Given the description of an element on the screen output the (x, y) to click on. 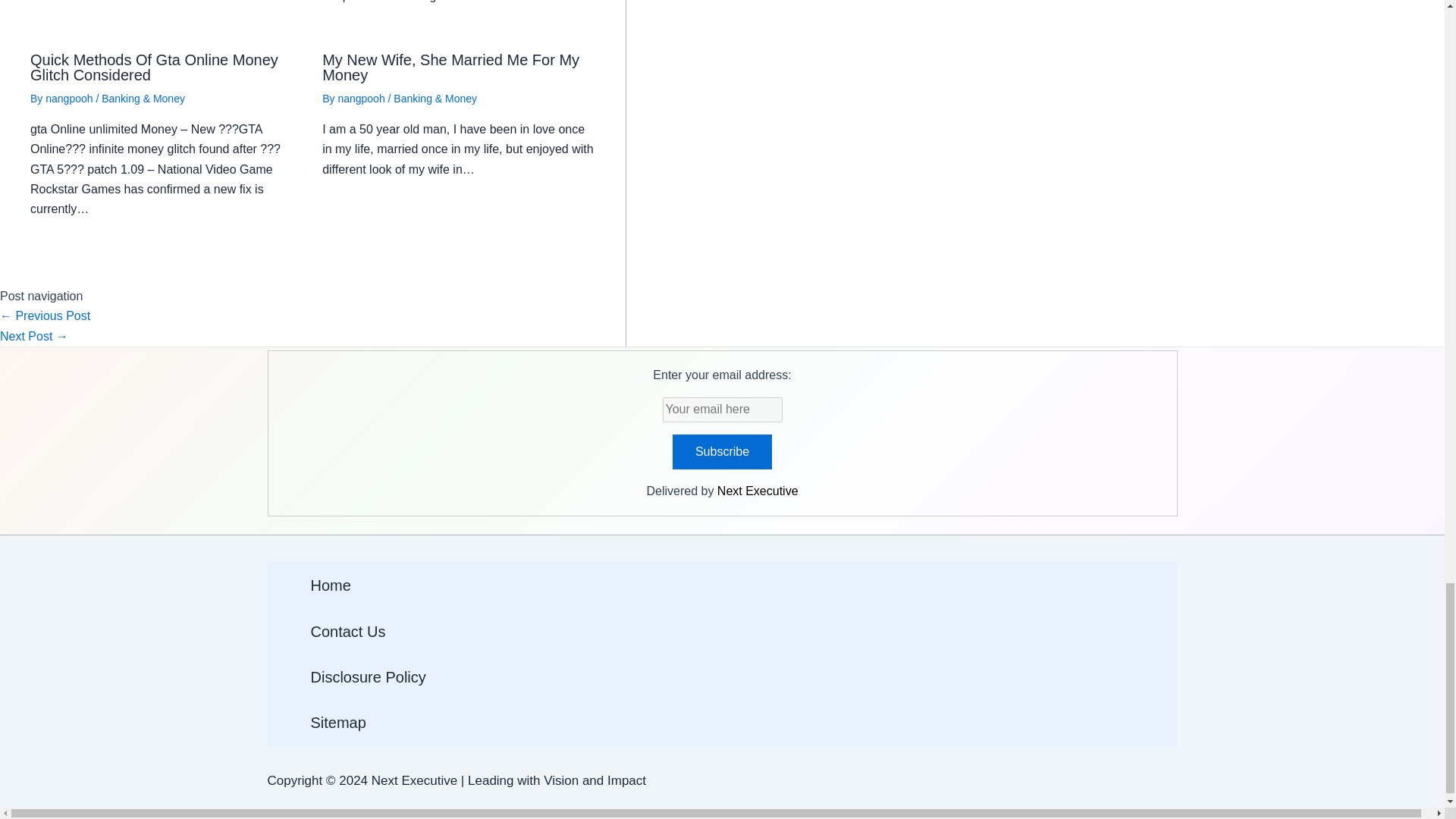
View all posts by nangpooh (362, 98)
Subscribe (721, 451)
Are You Looking For Ways To Make Money From Blogging (34, 336)
View all posts by nangpooh (70, 98)
